Given the description of an element on the screen output the (x, y) to click on. 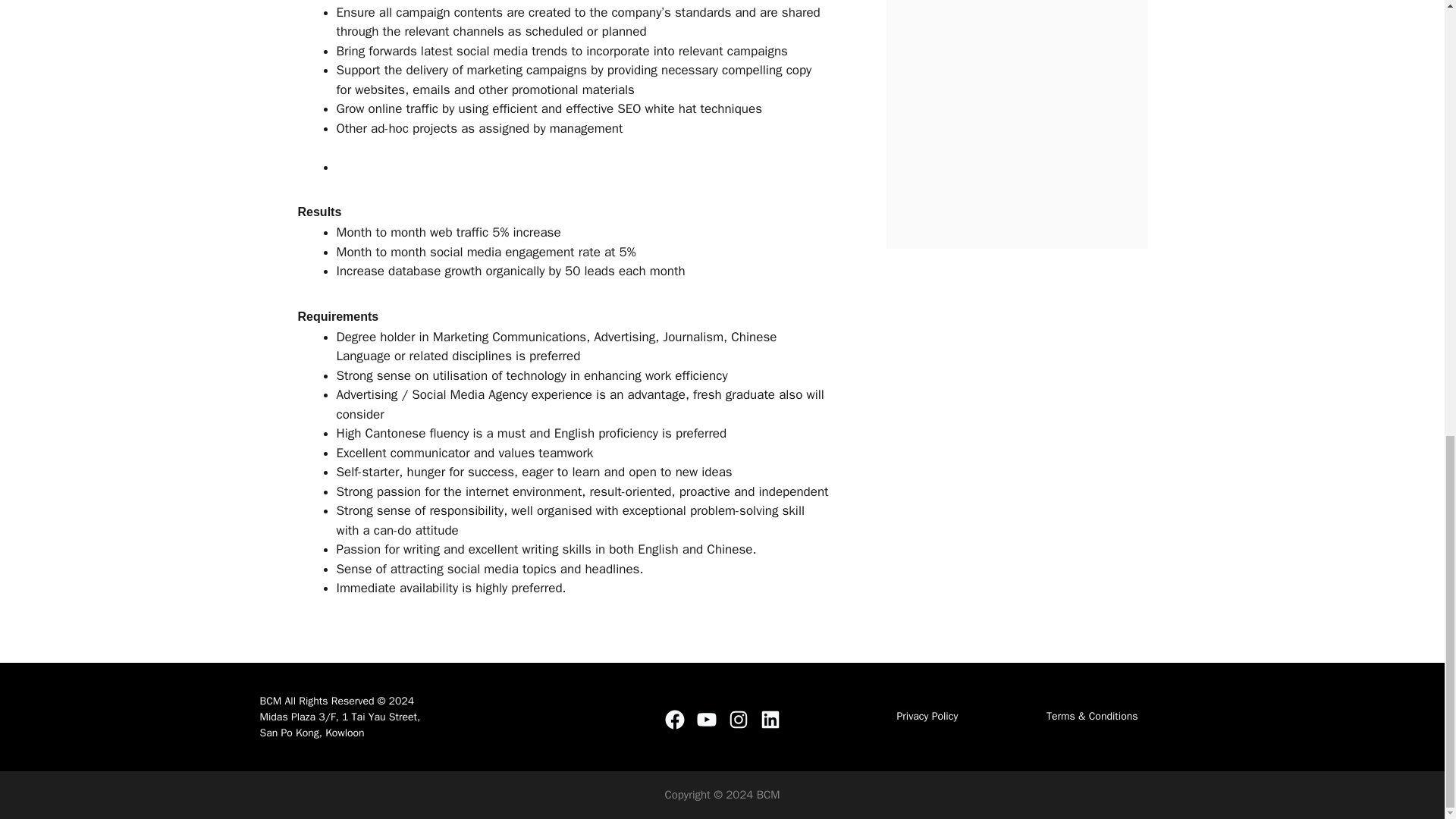
Job Application Form (1016, 121)
